Given the description of an element on the screen output the (x, y) to click on. 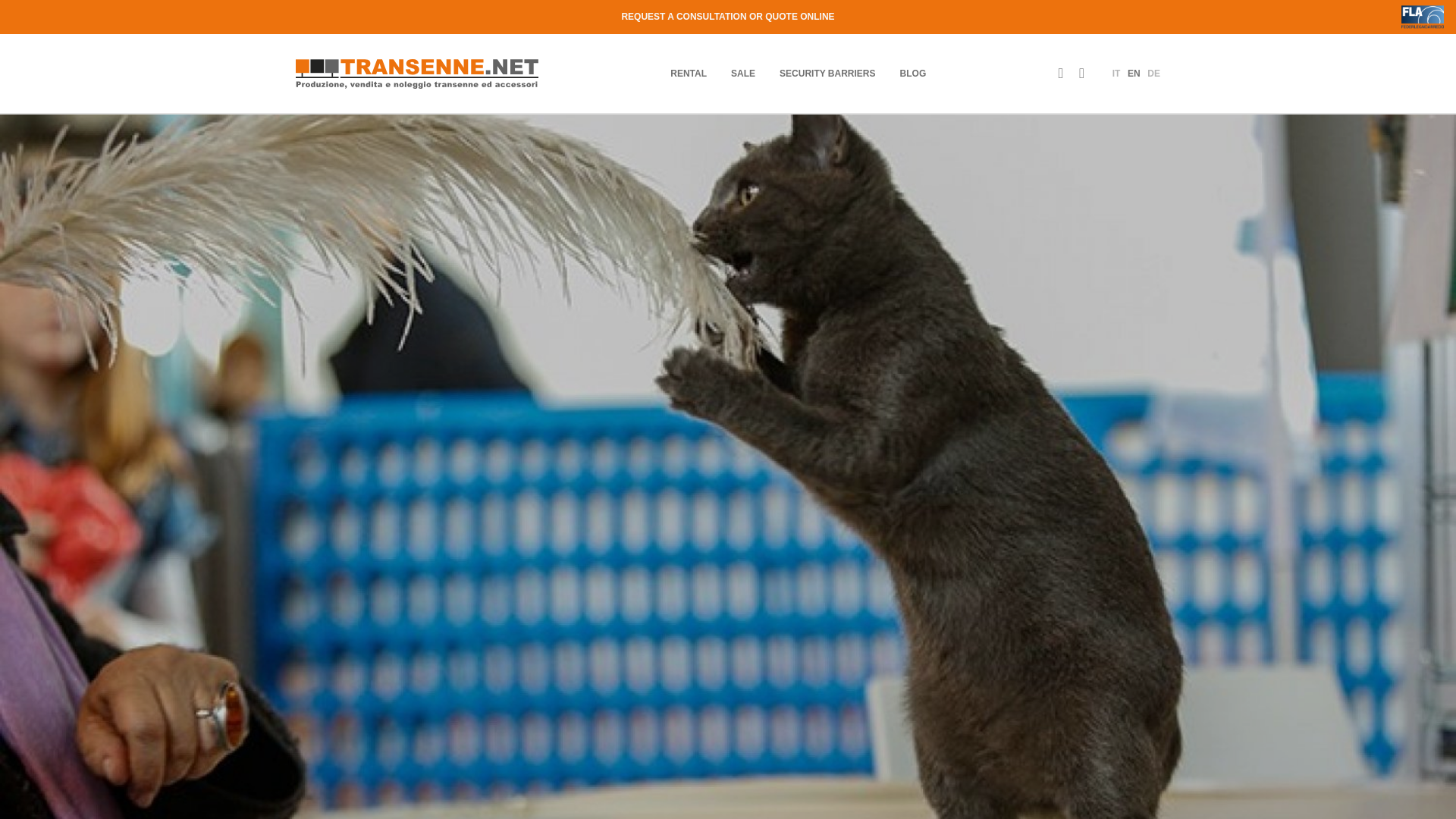
RENTAL (687, 72)
BLOG (912, 72)
REQUEST A CONSULTATION OR QUOTE ONLINE (727, 16)
DE (1153, 72)
IT (1116, 72)
Home (416, 73)
EN (1133, 72)
SALE (742, 72)
SECURITY BARRIERS (826, 72)
